Given the description of an element on the screen output the (x, y) to click on. 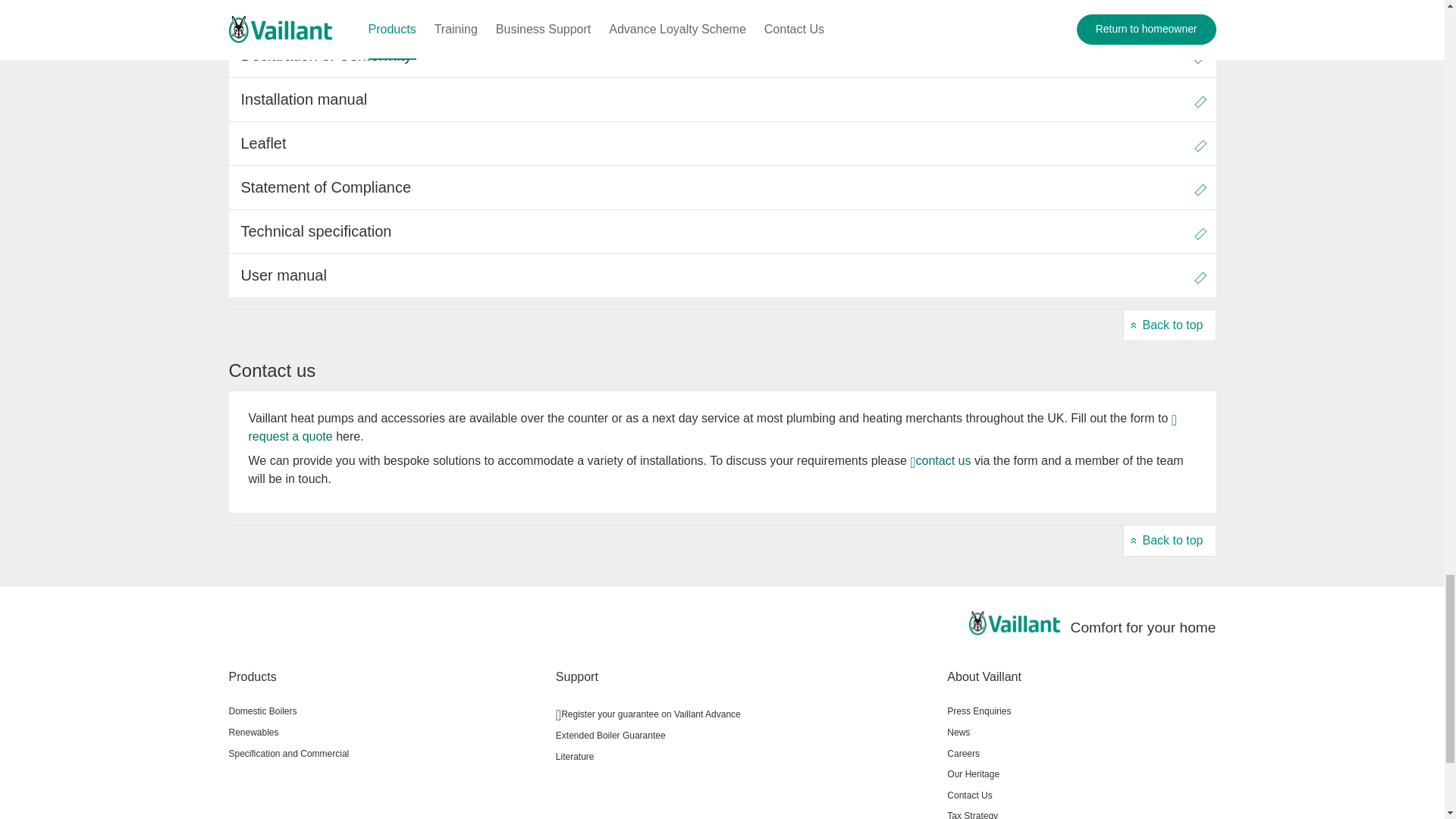
Vaillant (1015, 622)
